Given the description of an element on the screen output the (x, y) to click on. 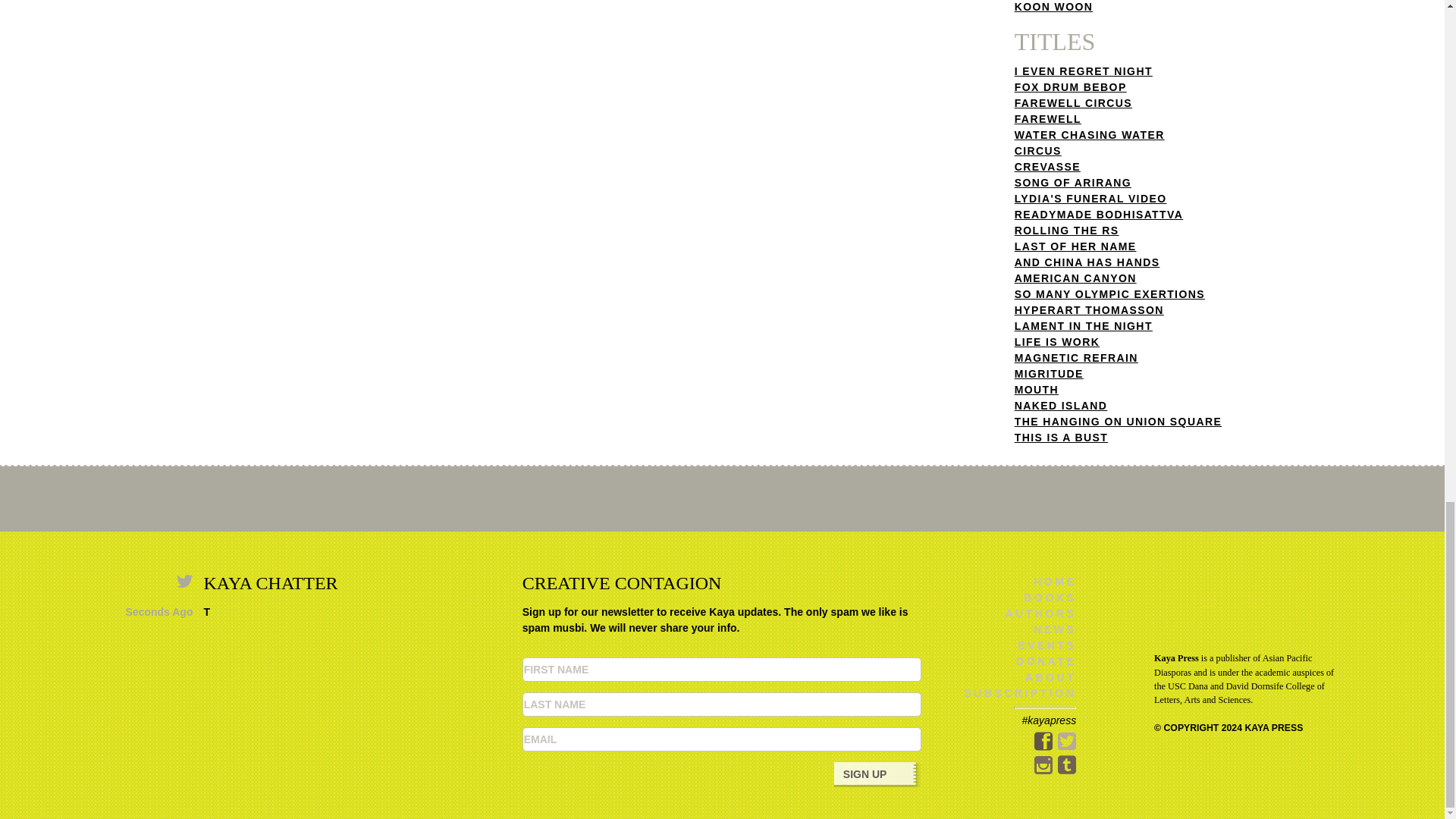
Sign Up (877, 774)
Email (721, 739)
First Name (721, 669)
Last Name (721, 704)
